Given the description of an element on the screen output the (x, y) to click on. 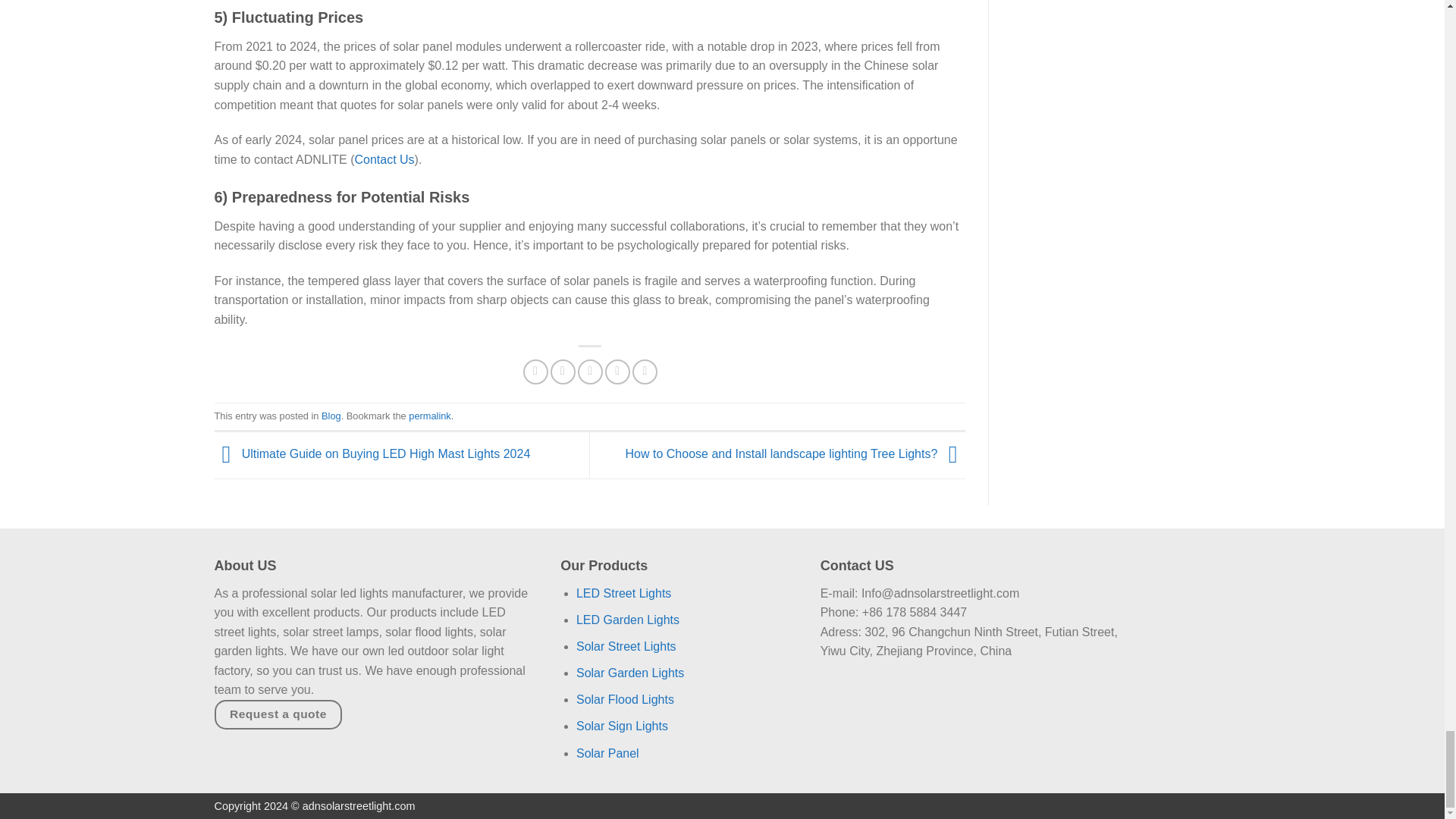
Email to a Friend (590, 371)
Share on Twitter (562, 371)
Share on LinkedIn (644, 371)
Contact Us (383, 158)
Pin on Pinterest (617, 371)
Share on Facebook (535, 371)
